Given the description of an element on the screen output the (x, y) to click on. 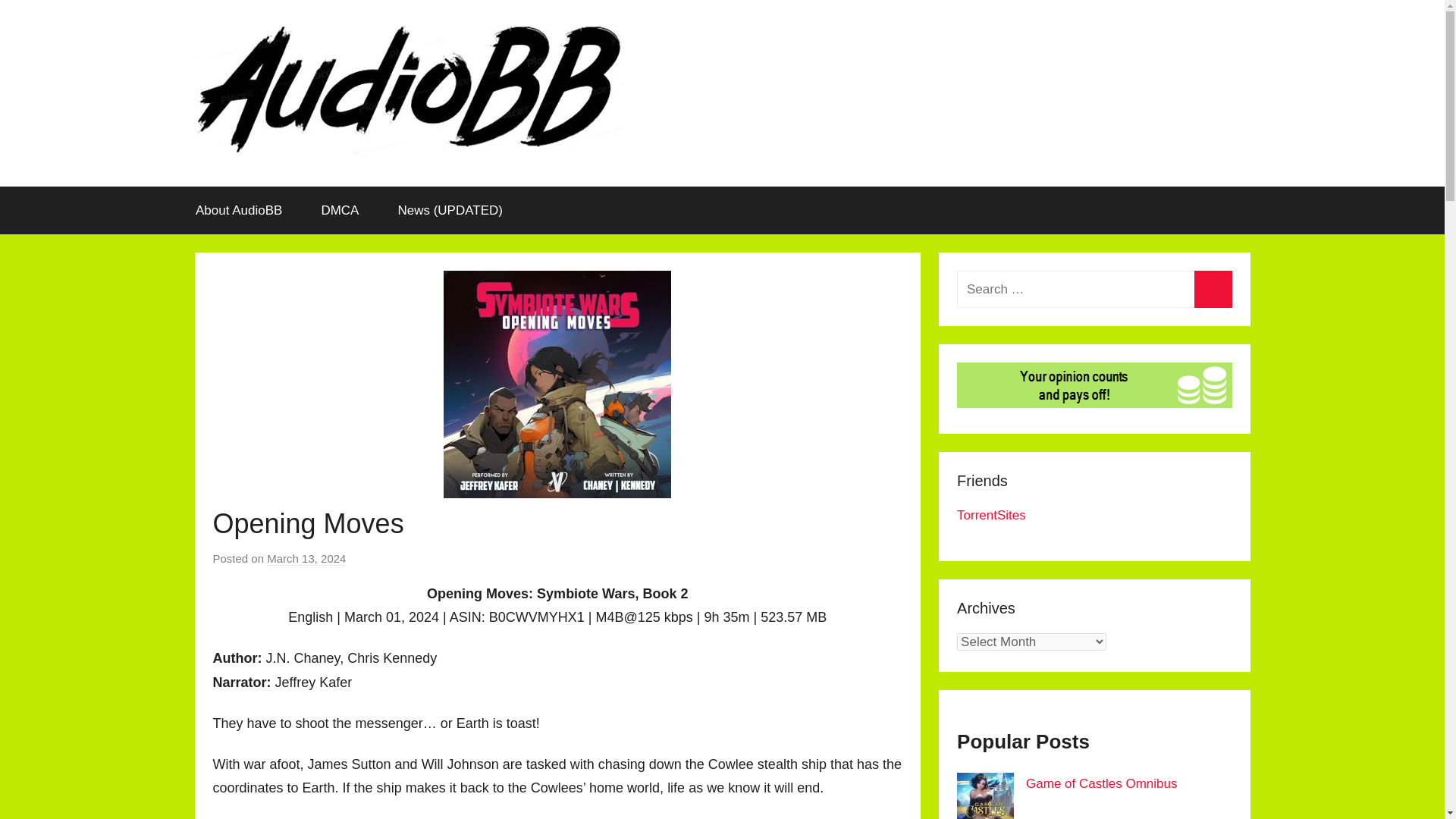
Search (1212, 289)
March 13, 2024 (306, 558)
DMCA (339, 210)
About AudioBB (238, 210)
Search for: (1093, 289)
Game of Castles Omnibus (1101, 783)
TorrentSites (991, 514)
